Given the description of an element on the screen output the (x, y) to click on. 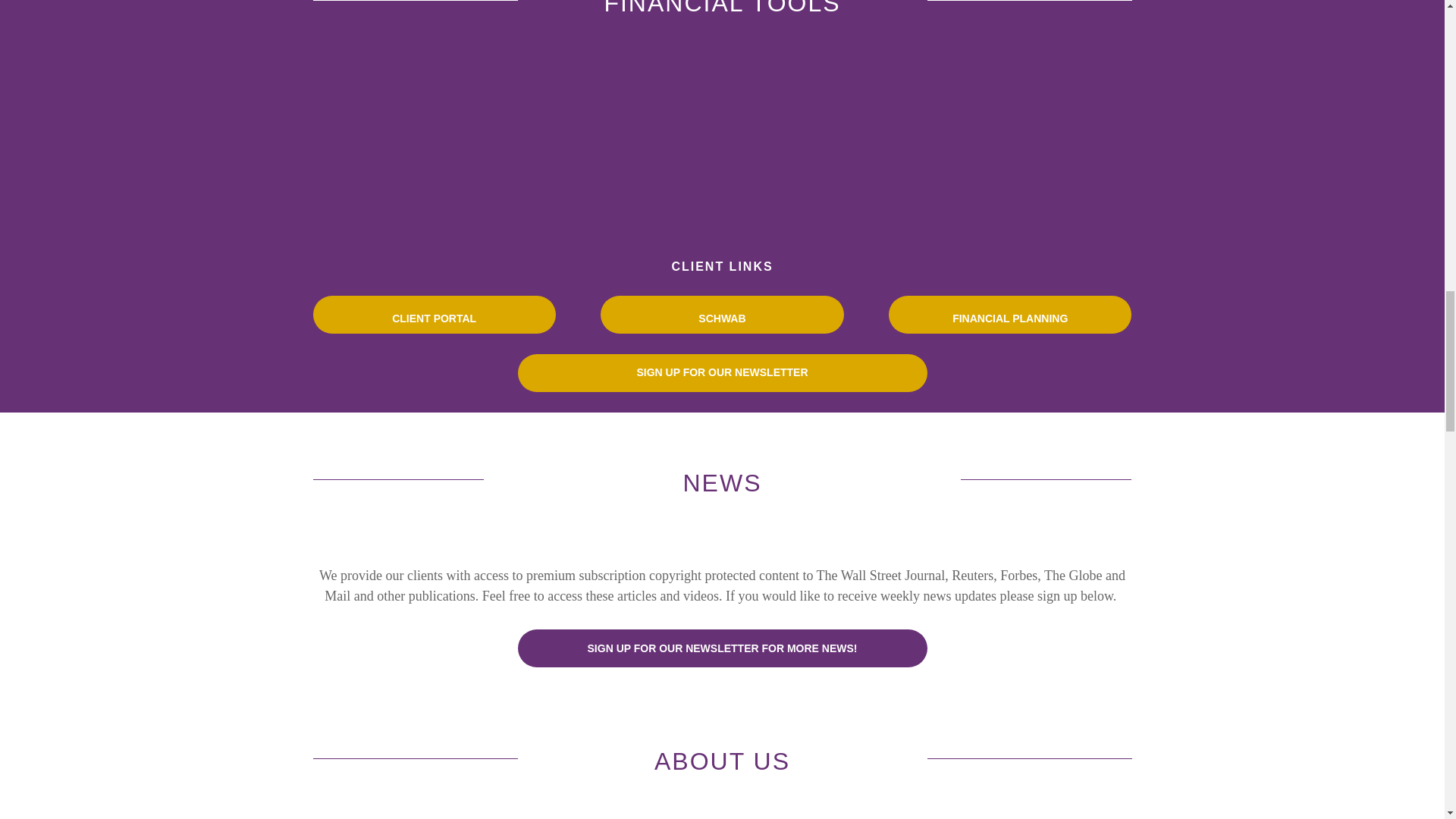
SIGN UP FOR OUR NEWSLETTER FOR MORE NEWS! (721, 648)
CLIENT PORTAL (433, 314)
SCHWAB (721, 314)
FINANCIAL PLANNING (1009, 314)
SIGN UP FOR OUR NEWSLETTER (721, 372)
